Given the description of an element on the screen output the (x, y) to click on. 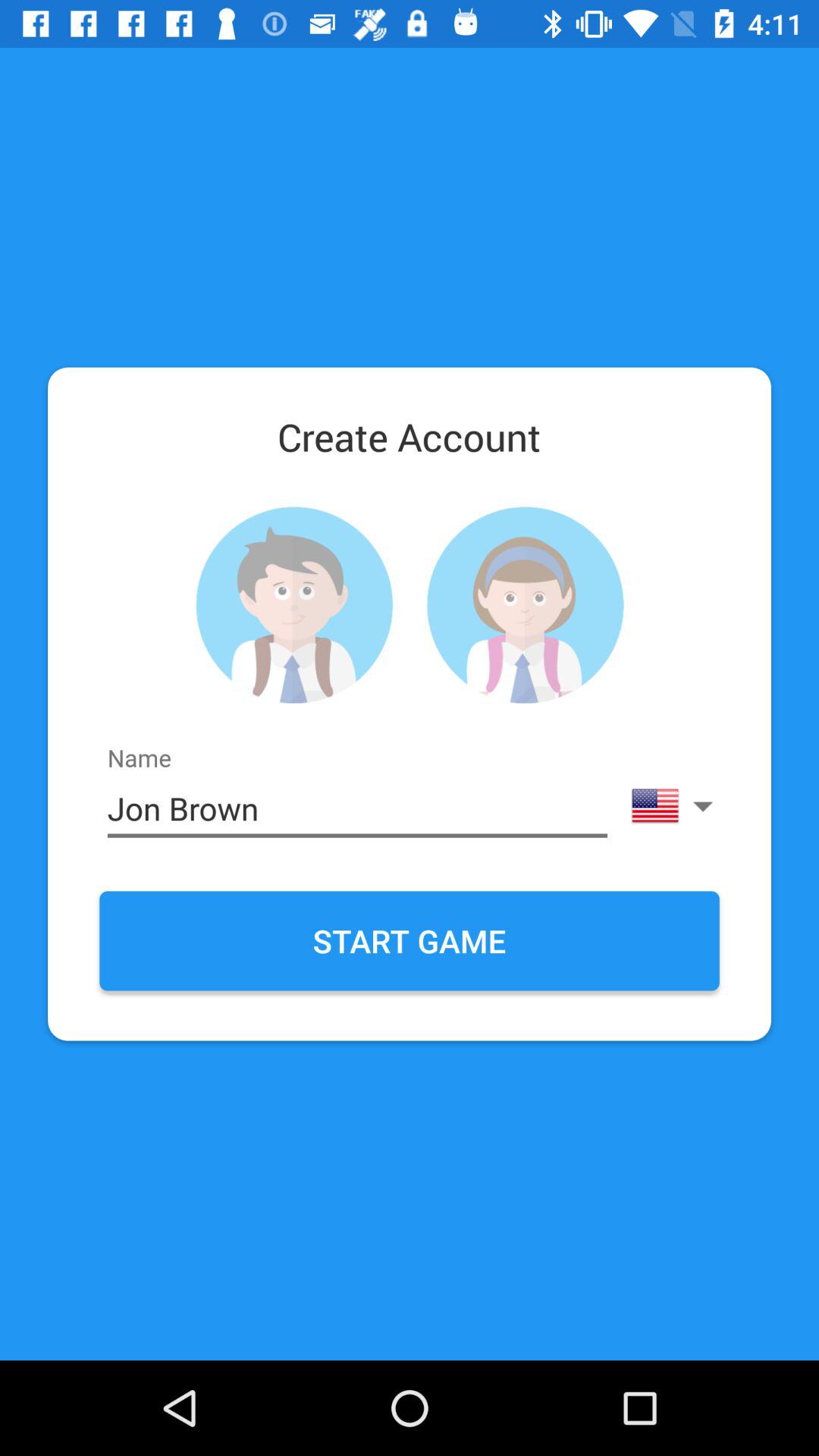
select the gender (293, 605)
